Given the description of an element on the screen output the (x, y) to click on. 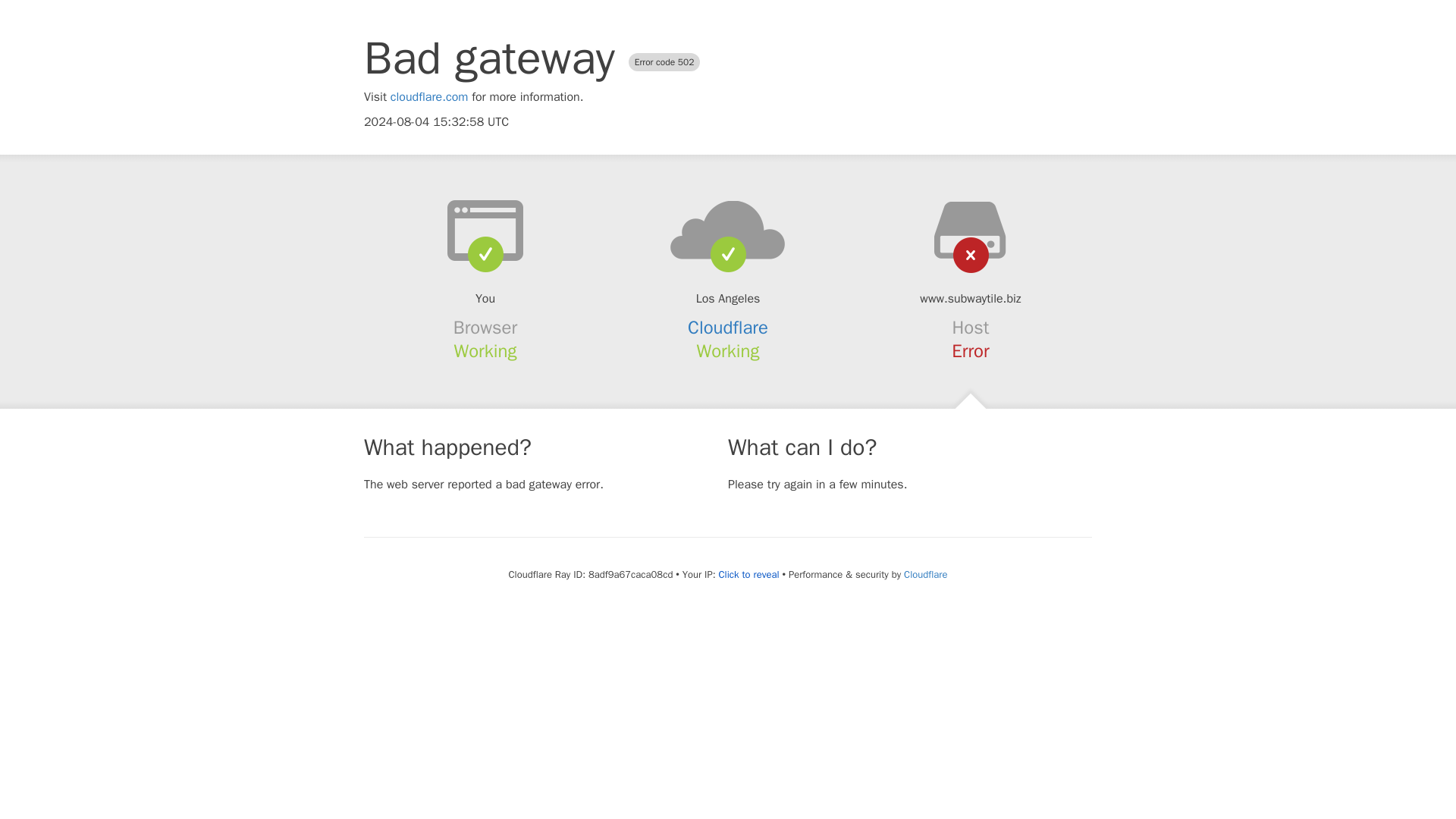
Click to reveal (748, 574)
cloudflare.com (429, 96)
Cloudflare (727, 327)
Cloudflare (925, 574)
